Given the description of an element on the screen output the (x, y) to click on. 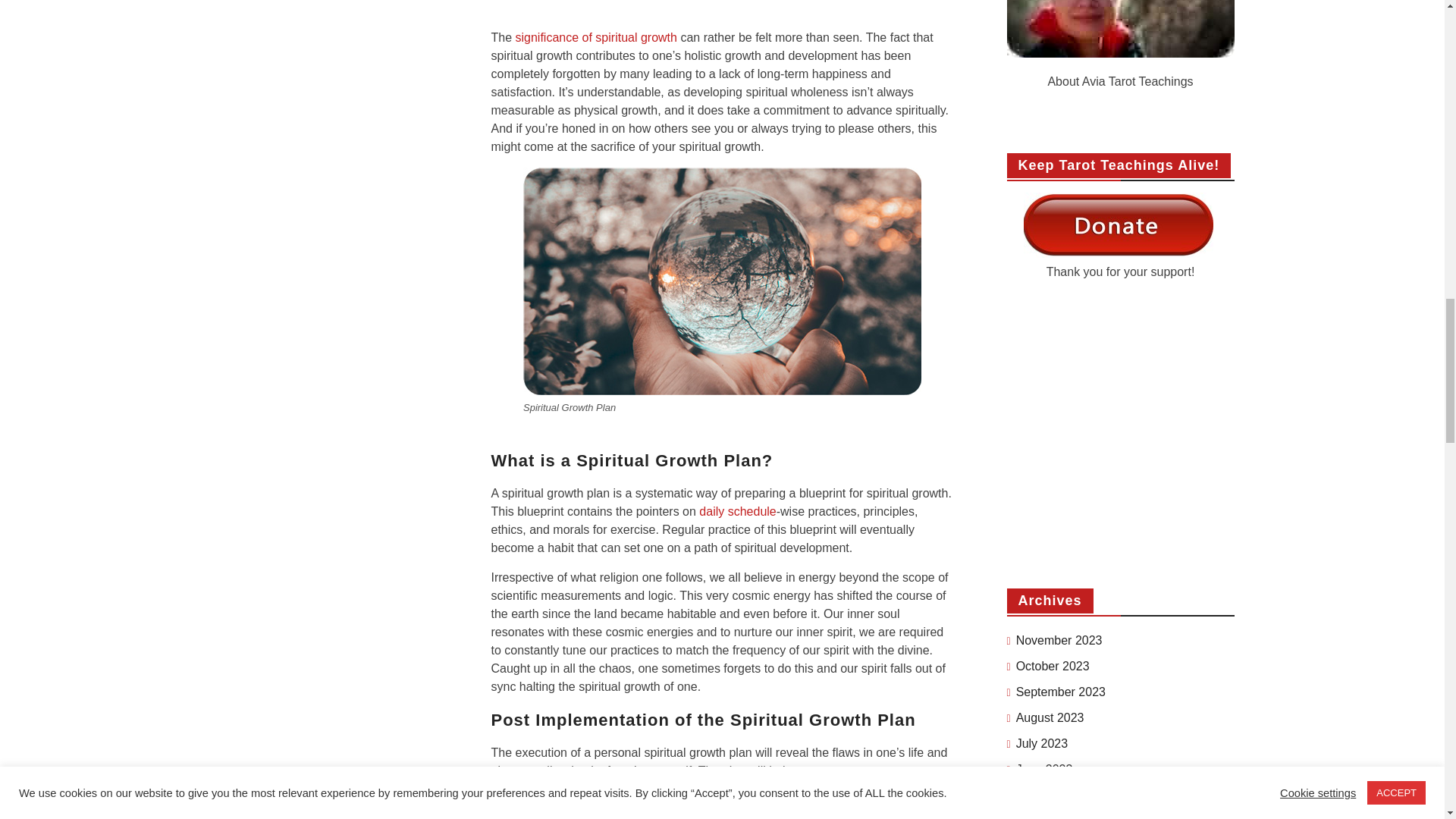
PayPal - The safer, easier way to pay online! (1117, 224)
daily schedule (737, 511)
significance of spiritual growth (596, 37)
